Given the description of an element on the screen output the (x, y) to click on. 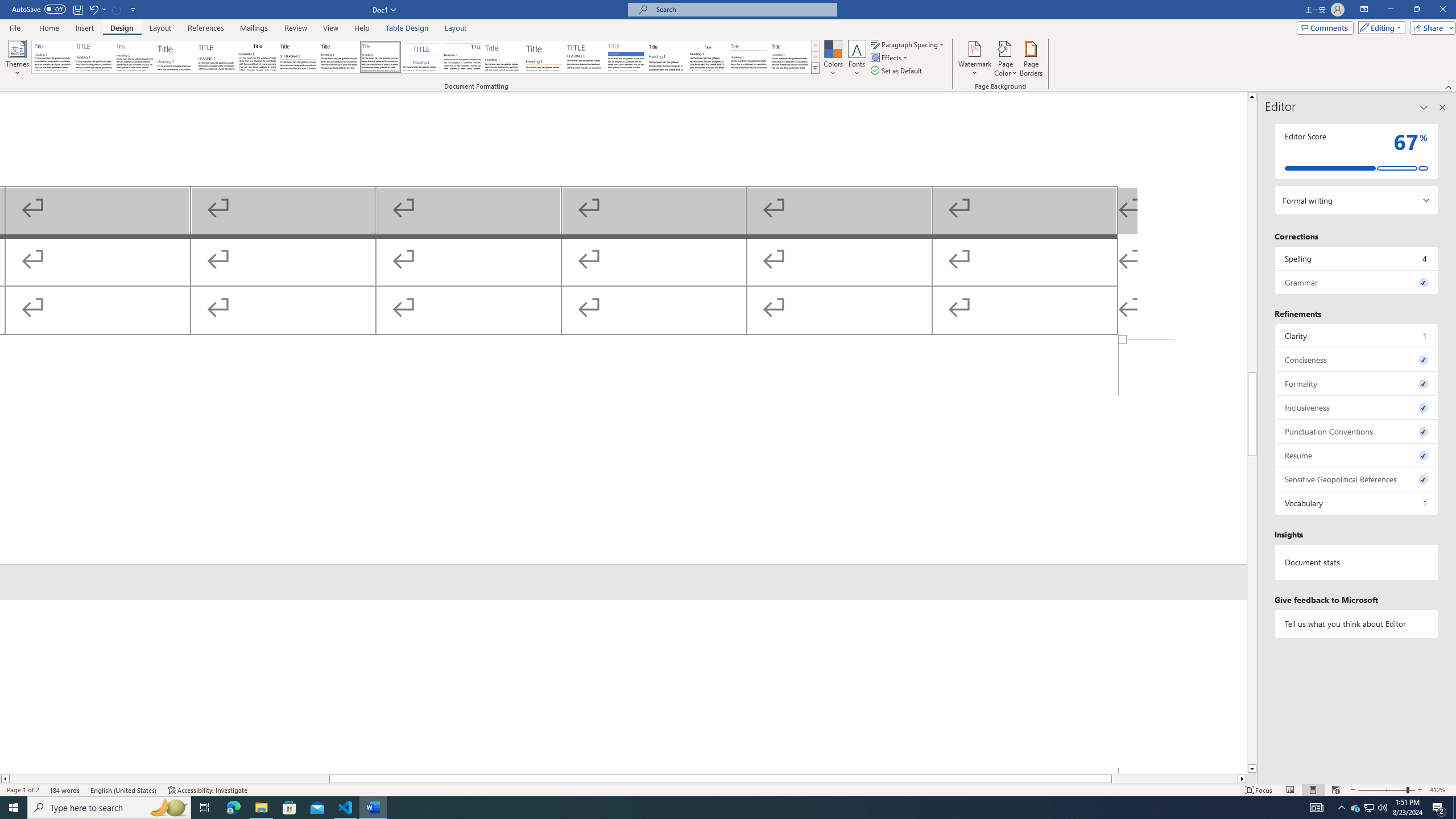
Document statistics (1356, 561)
Editor Score 67% (1356, 151)
Formality, 0 issues. Press space or enter to review items. (1356, 383)
Minimalist (584, 56)
Word 2010 (749, 56)
Set as Default (897, 69)
